Given the description of an element on the screen output the (x, y) to click on. 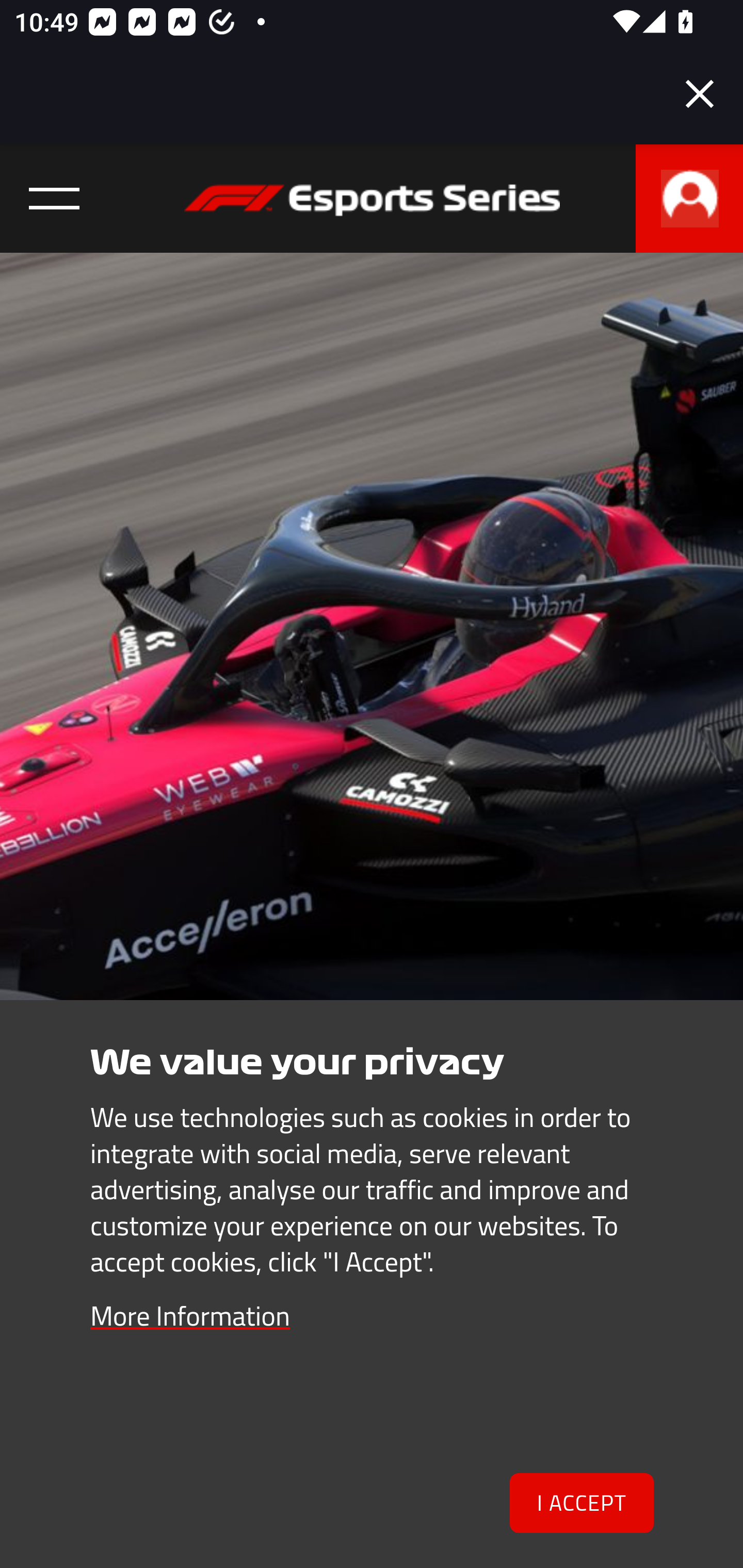
Close (699, 93)
Main menu (54, 199)
Profile (689, 199)
Homepage (371, 208)
More Information (190, 1315)
I ACCEPT (581, 1503)
